Given the description of an element on the screen output the (x, y) to click on. 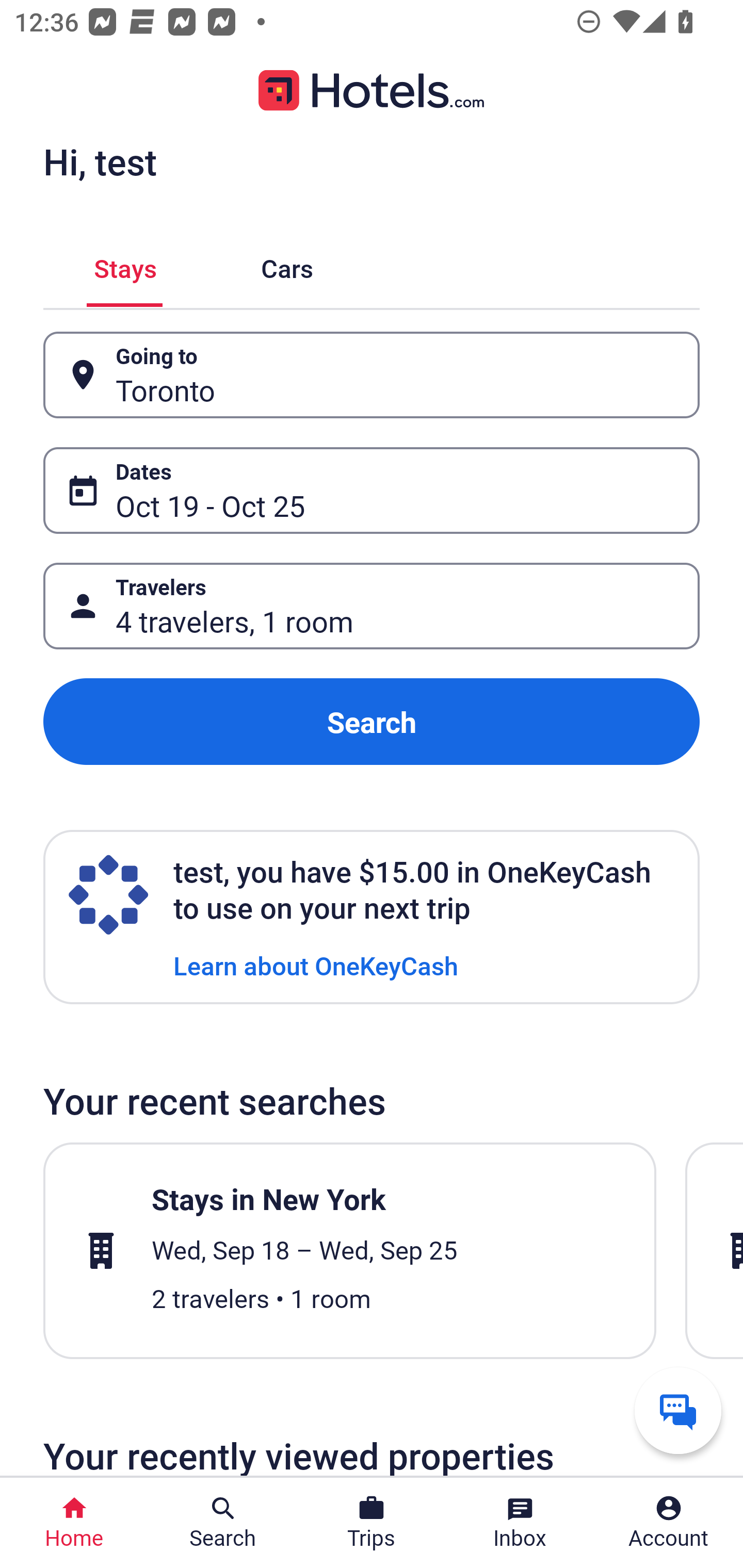
Hi, test (99, 161)
Cars (286, 265)
Going to Button Toronto (371, 375)
Dates Button Oct 19 - Oct 25 (371, 489)
Travelers Button 4 travelers, 1 room (371, 605)
Search (371, 721)
Learn about OneKeyCash Learn about OneKeyCash Link (315, 964)
Get help from a virtual agent (677, 1410)
Search Search Button (222, 1522)
Trips Trips Button (371, 1522)
Inbox Inbox Button (519, 1522)
Account Profile. Button (668, 1522)
